Given the description of an element on the screen output the (x, y) to click on. 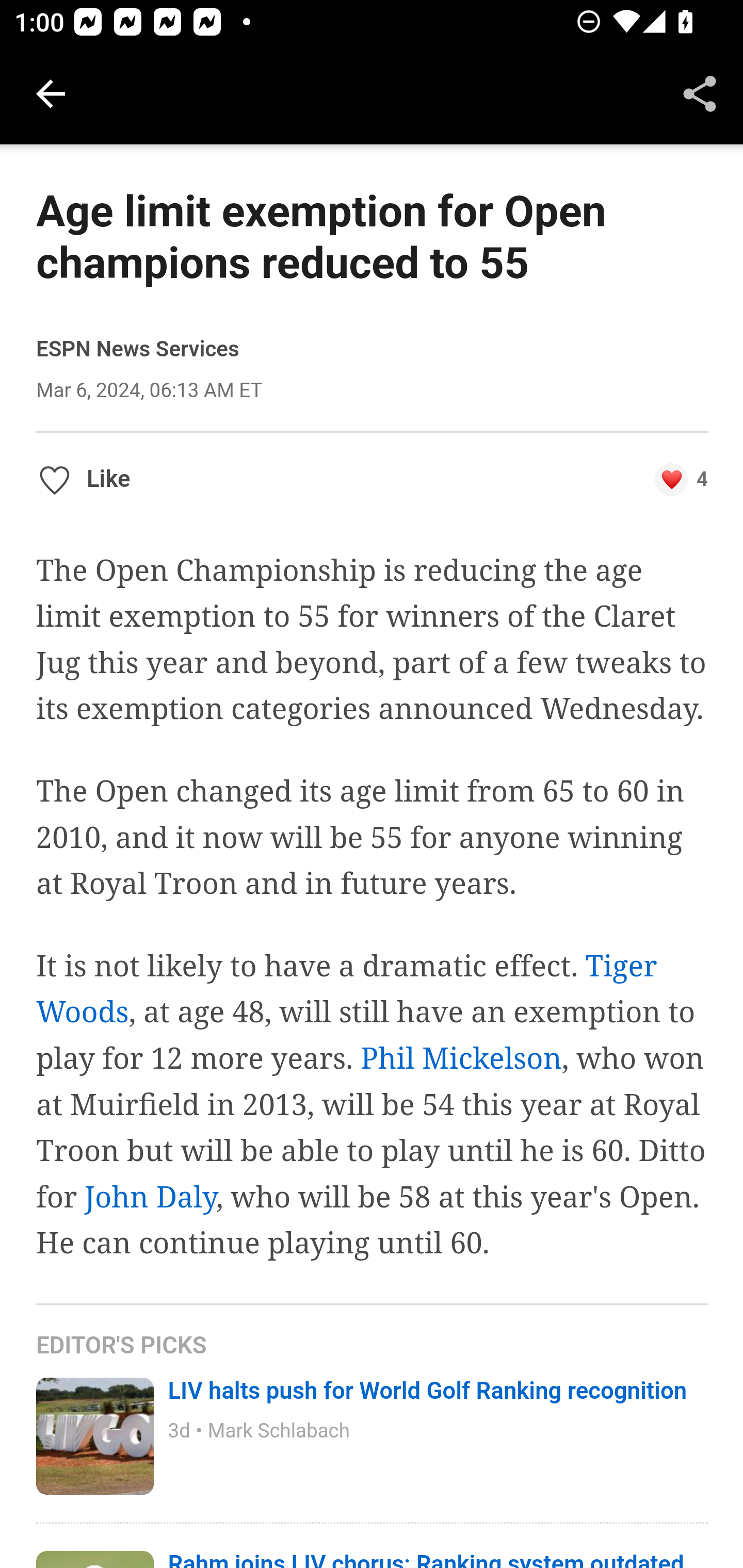
Navigate up (50, 93)
Share (699, 93)
